Given the description of an element on the screen output the (x, y) to click on. 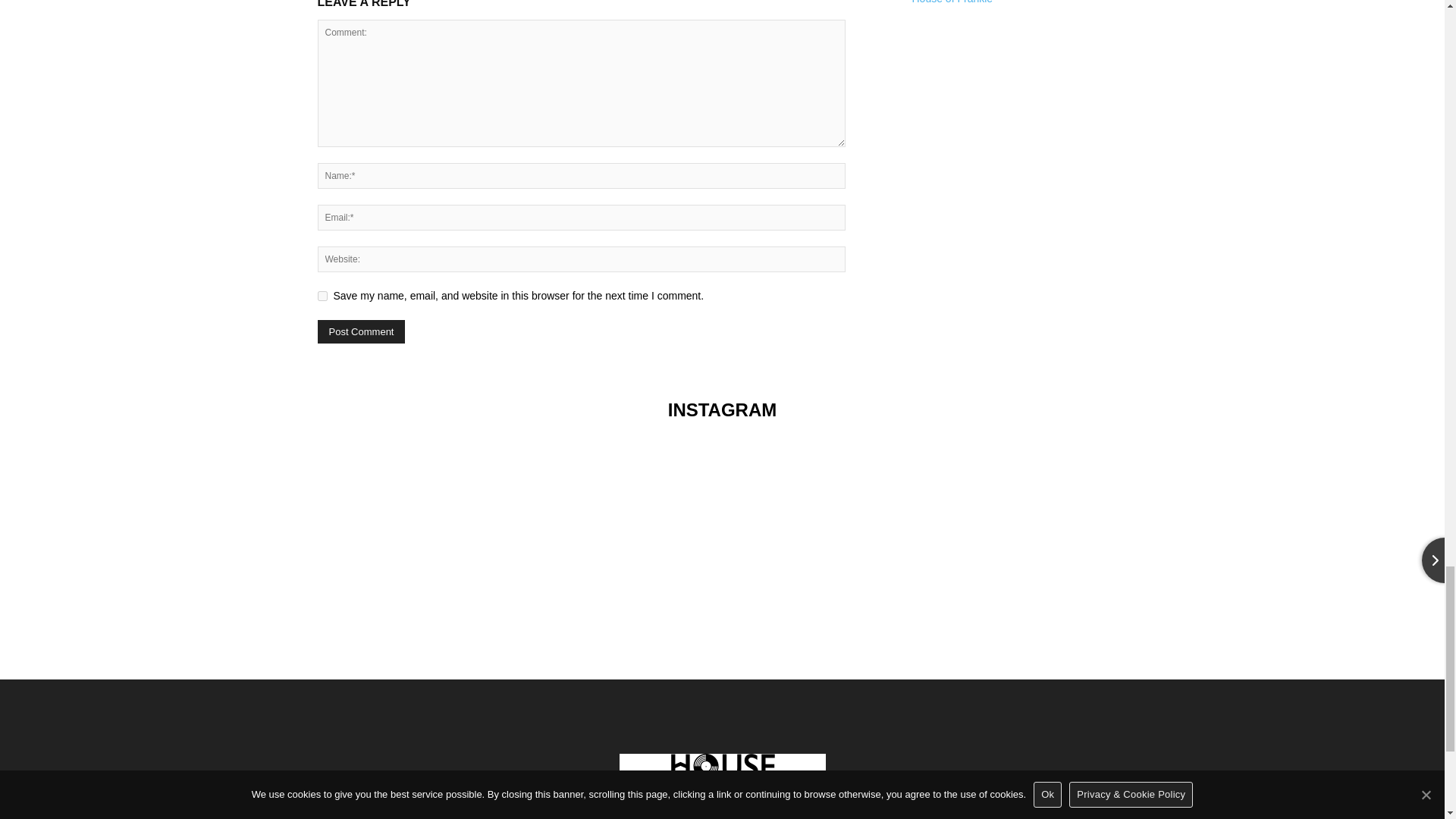
Post Comment (360, 331)
yes (321, 296)
